Given the description of an element on the screen output the (x, y) to click on. 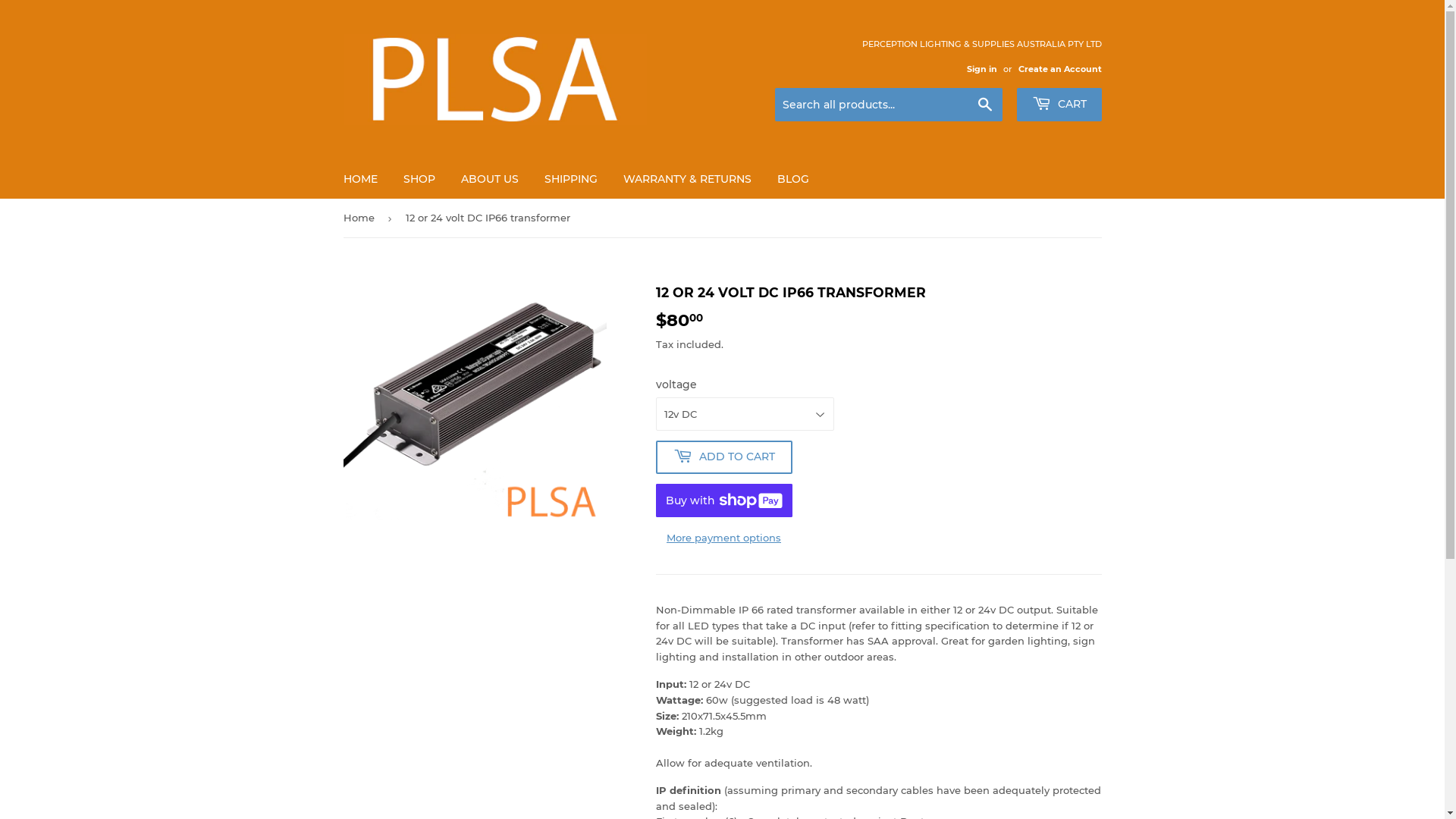
More payment options Element type: text (723, 537)
BLOG Element type: text (792, 178)
Create an Account Element type: text (1059, 68)
SHOP Element type: text (418, 178)
Sign in Element type: text (981, 68)
WARRANTY & RETURNS Element type: text (686, 178)
HOME Element type: text (360, 178)
Home Element type: text (360, 217)
ADD TO CART Element type: text (723, 456)
SHIPPING Element type: text (570, 178)
CART Element type: text (1058, 104)
Search Element type: text (984, 105)
ABOUT US Element type: text (488, 178)
